Given the description of an element on the screen output the (x, y) to click on. 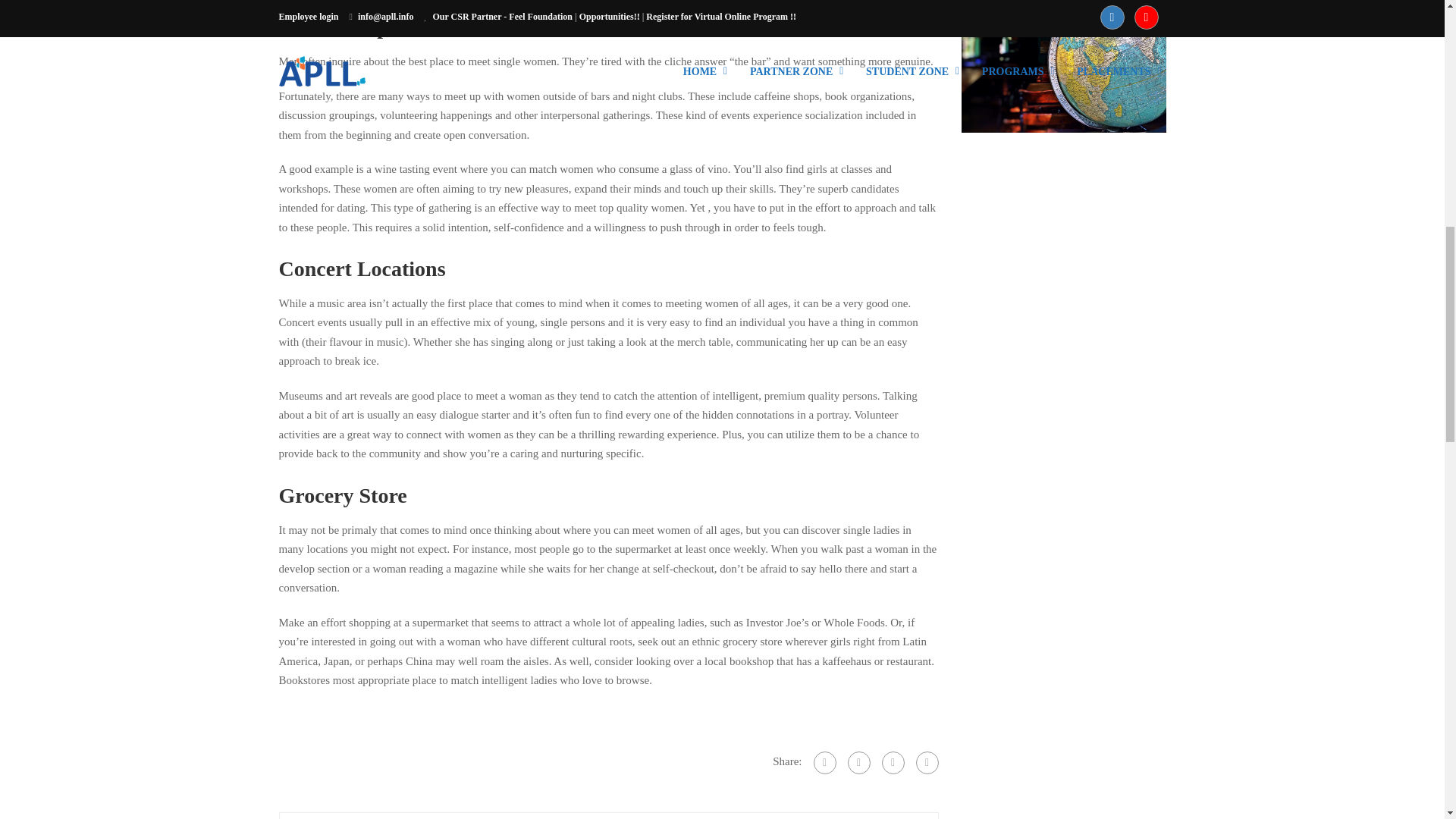
Google Plus (858, 762)
Pinterest (927, 762)
Facebook (823, 762)
Twitter (892, 762)
